Given the description of an element on the screen output the (x, y) to click on. 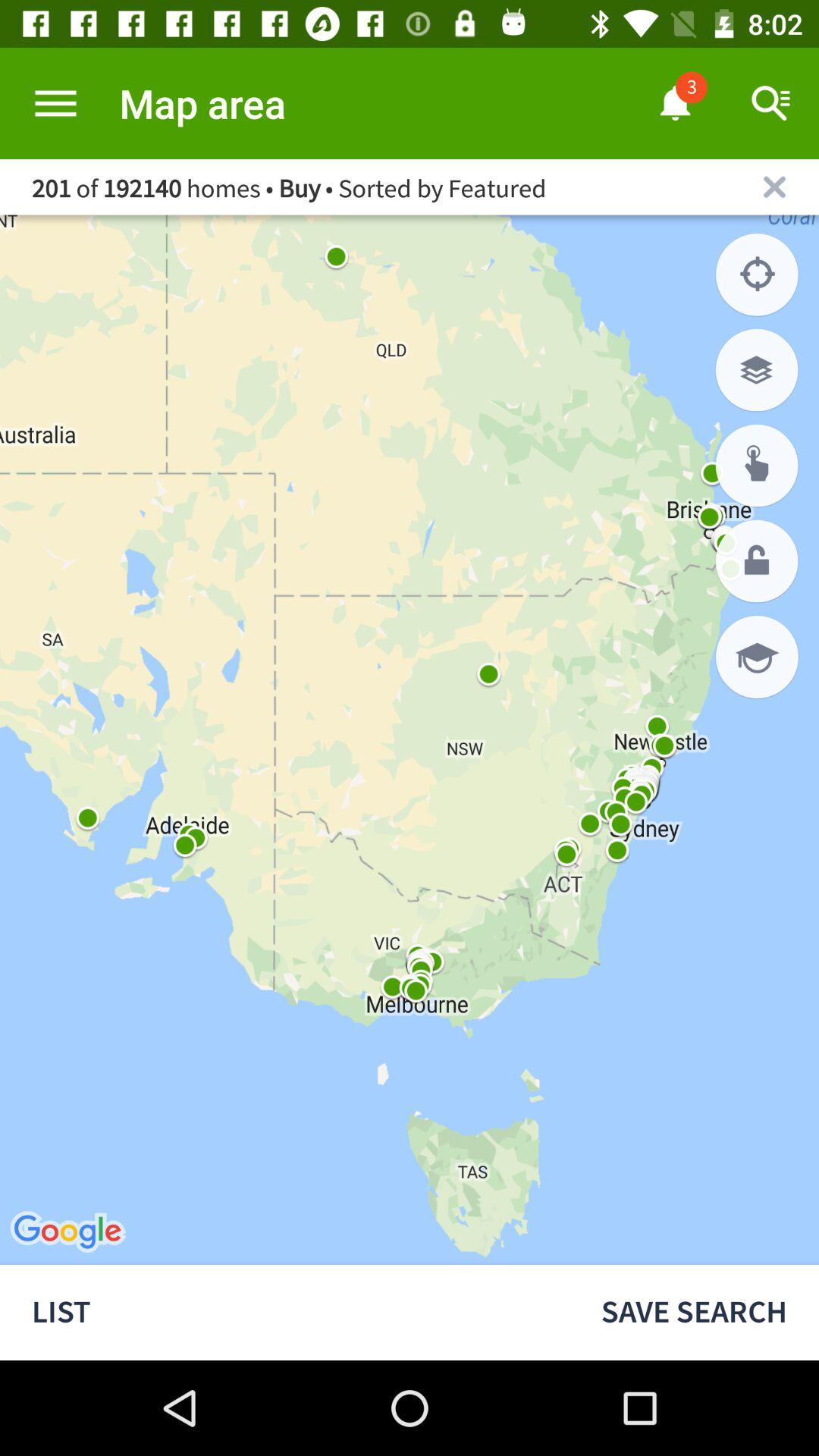
delete the input (774, 186)
